Given the description of an element on the screen output the (x, y) to click on. 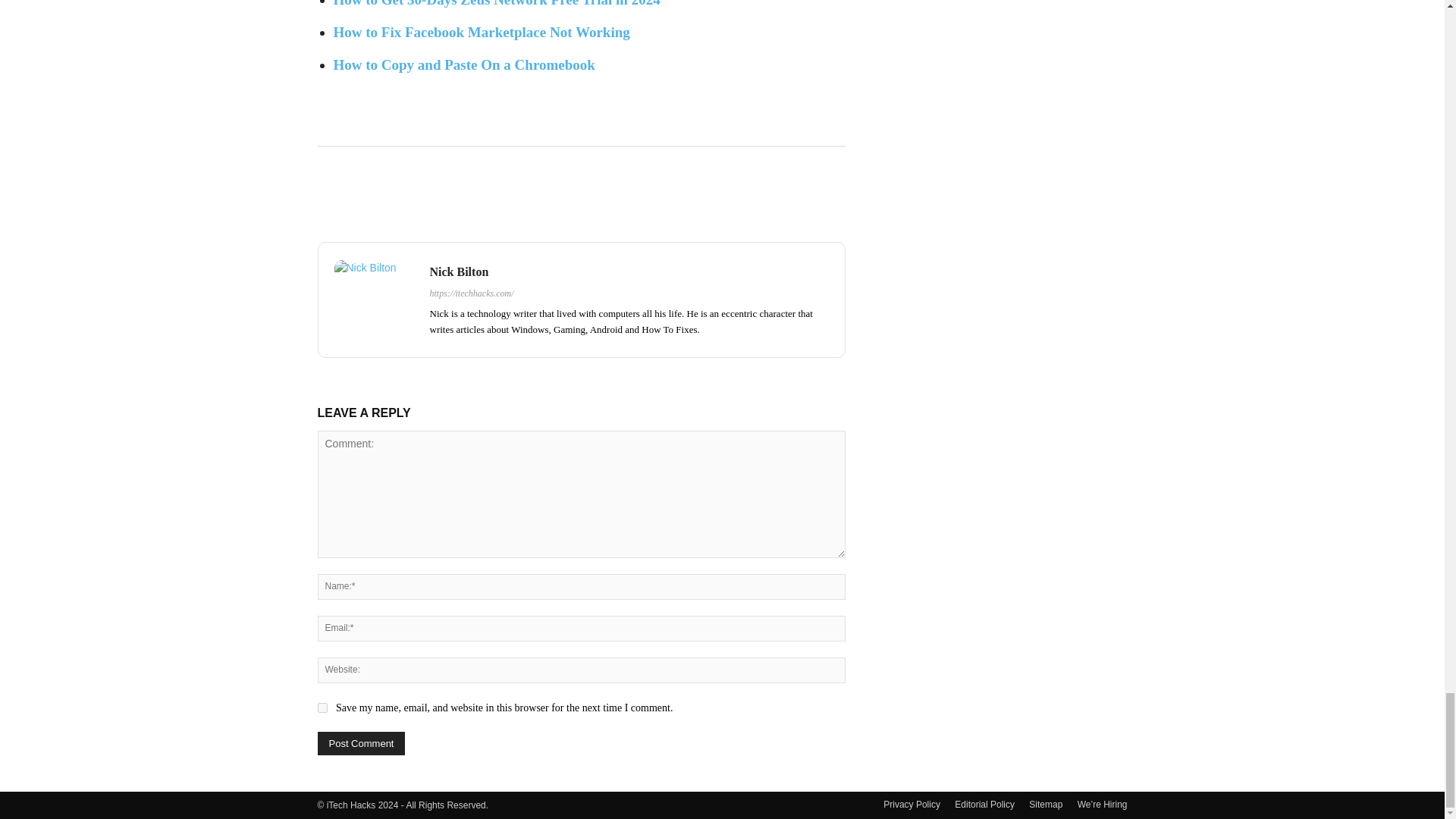
yes (321, 707)
How to Get 30-Days Zeus Network Free Trial in 2024 (497, 3)
How to Fix Facebook Marketplace Not Working (481, 32)
Post Comment (360, 743)
